Given the description of an element on the screen output the (x, y) to click on. 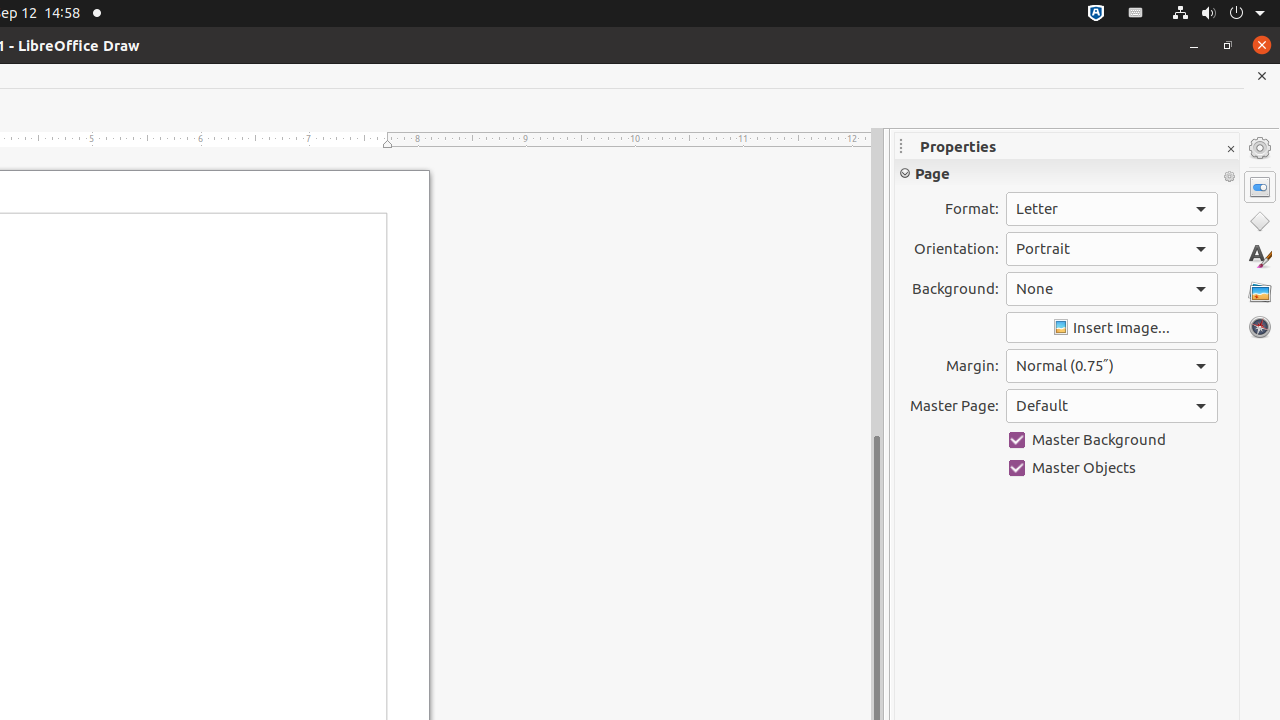
:1.21/StatusNotifierItem Element type: menu (1136, 13)
Format: Element type: combo-box (1112, 209)
Styles Element type: radio-button (1260, 256)
Background: Element type: combo-box (1112, 289)
Insert Image Element type: push-button (1112, 327)
